Given the description of an element on the screen output the (x, y) to click on. 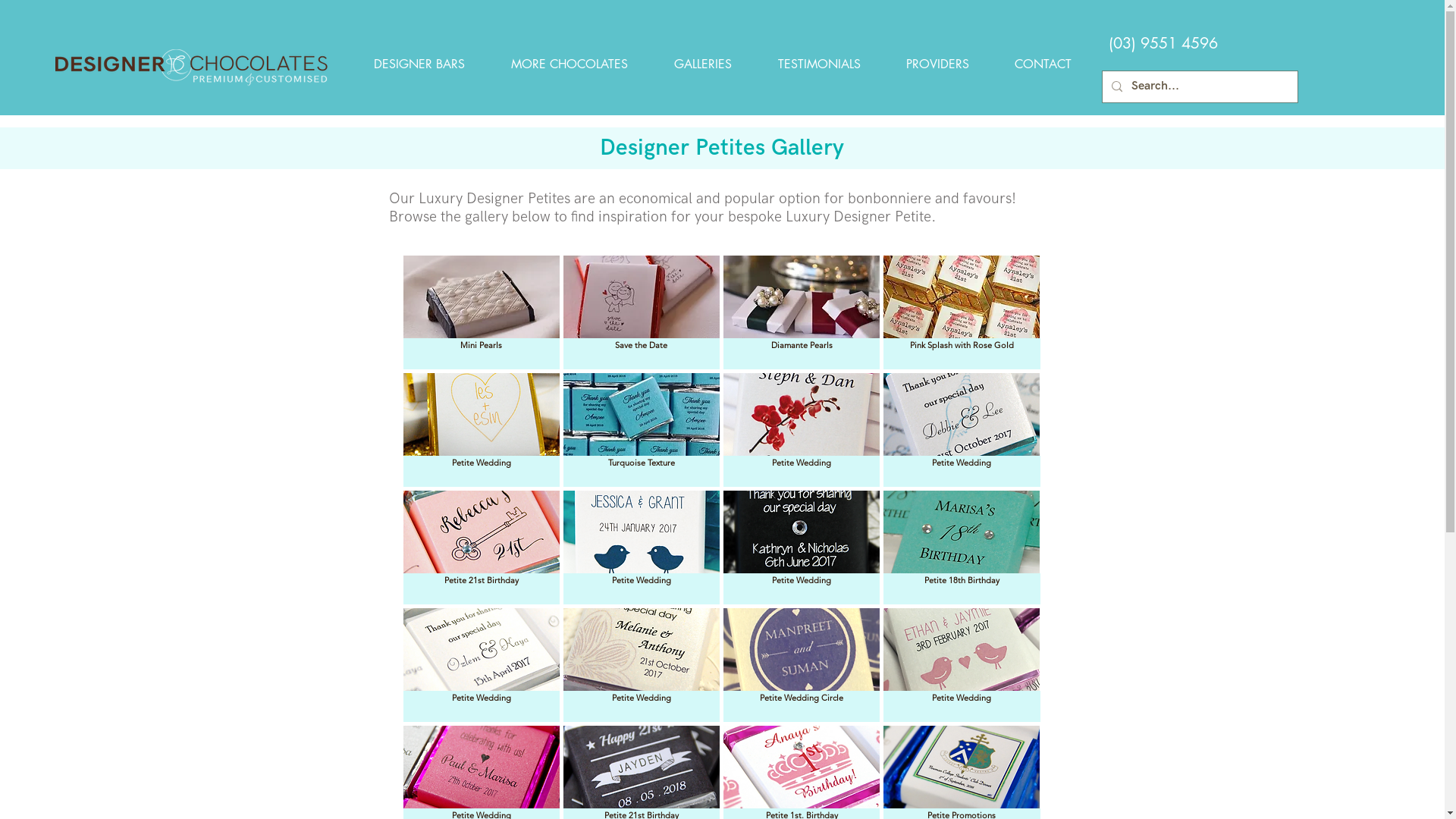
PROVIDERS Element type: text (936, 64)
TESTIMONIALS Element type: text (819, 64)
CONTACT Element type: text (1042, 64)
(03) 9551 4596 Element type: text (1162, 43)
